Given the description of an element on the screen output the (x, y) to click on. 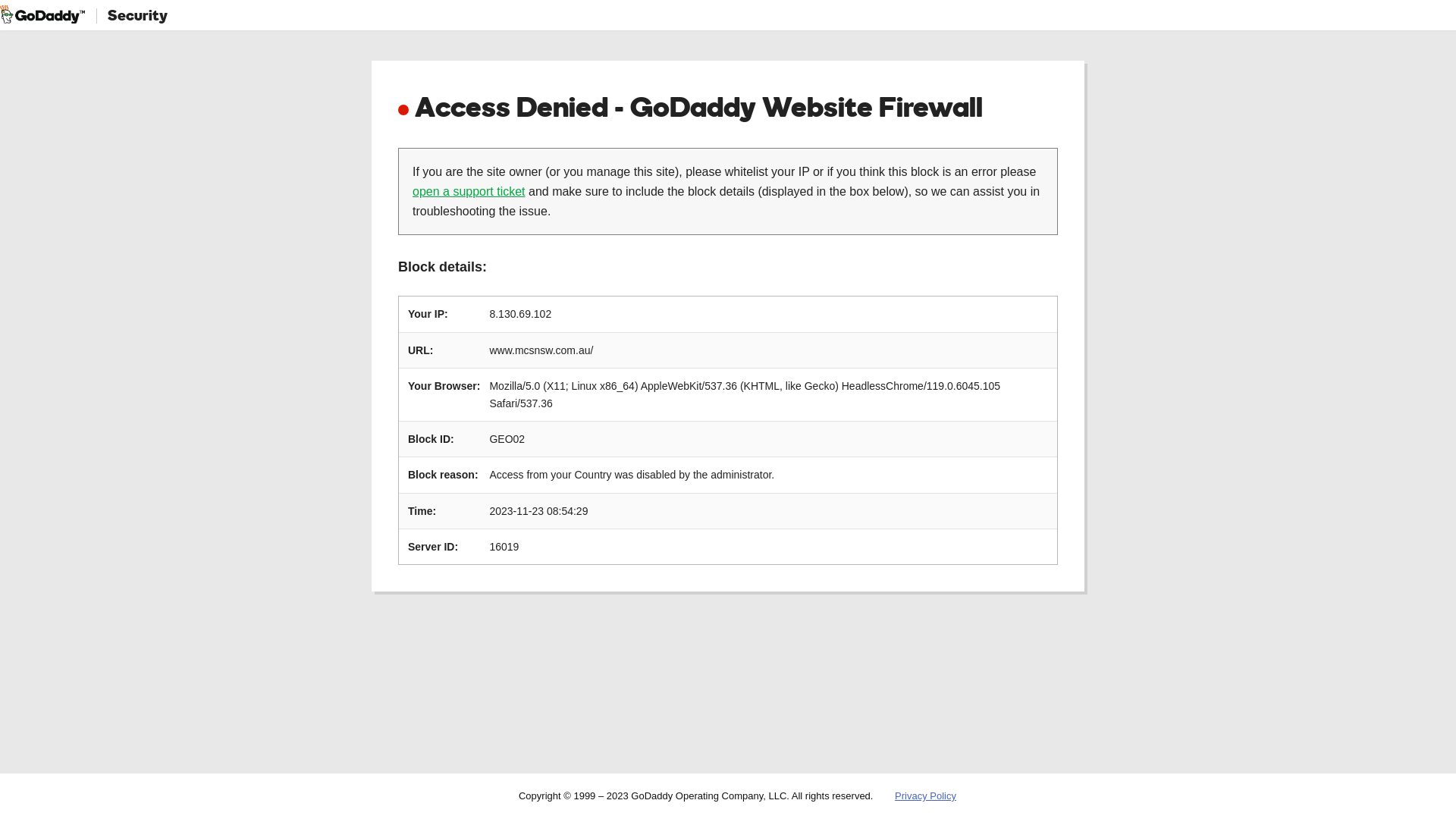
Privacy Policy Element type: text (925, 795)
open a support ticket Element type: text (468, 191)
